Given the description of an element on the screen output the (x, y) to click on. 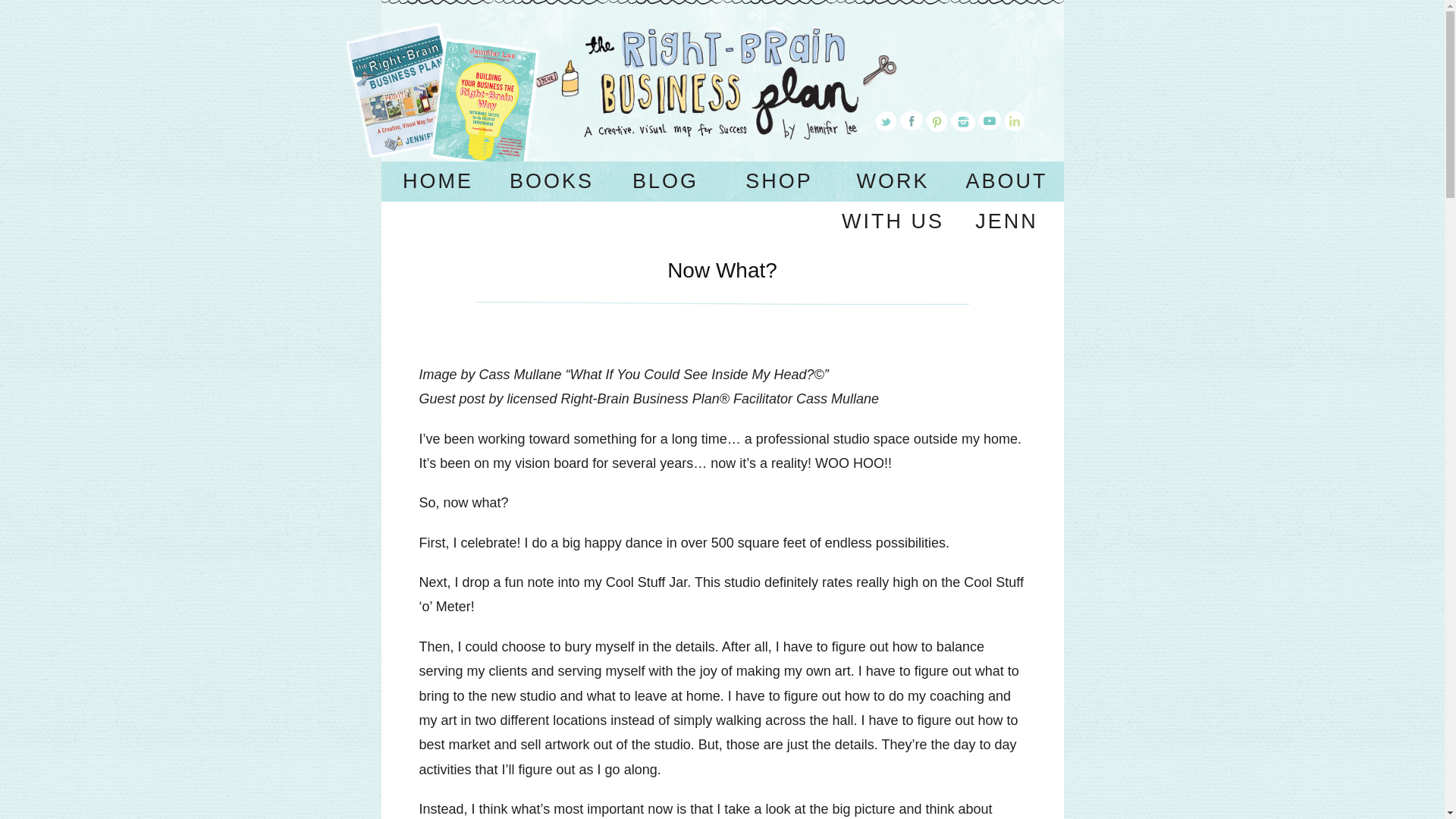
SHOP (778, 181)
BOOKS (551, 181)
ABOUT JENN (1005, 201)
BLOG (665, 181)
HOME (437, 181)
WORK WITH US (892, 201)
